Given the description of an element on the screen output the (x, y) to click on. 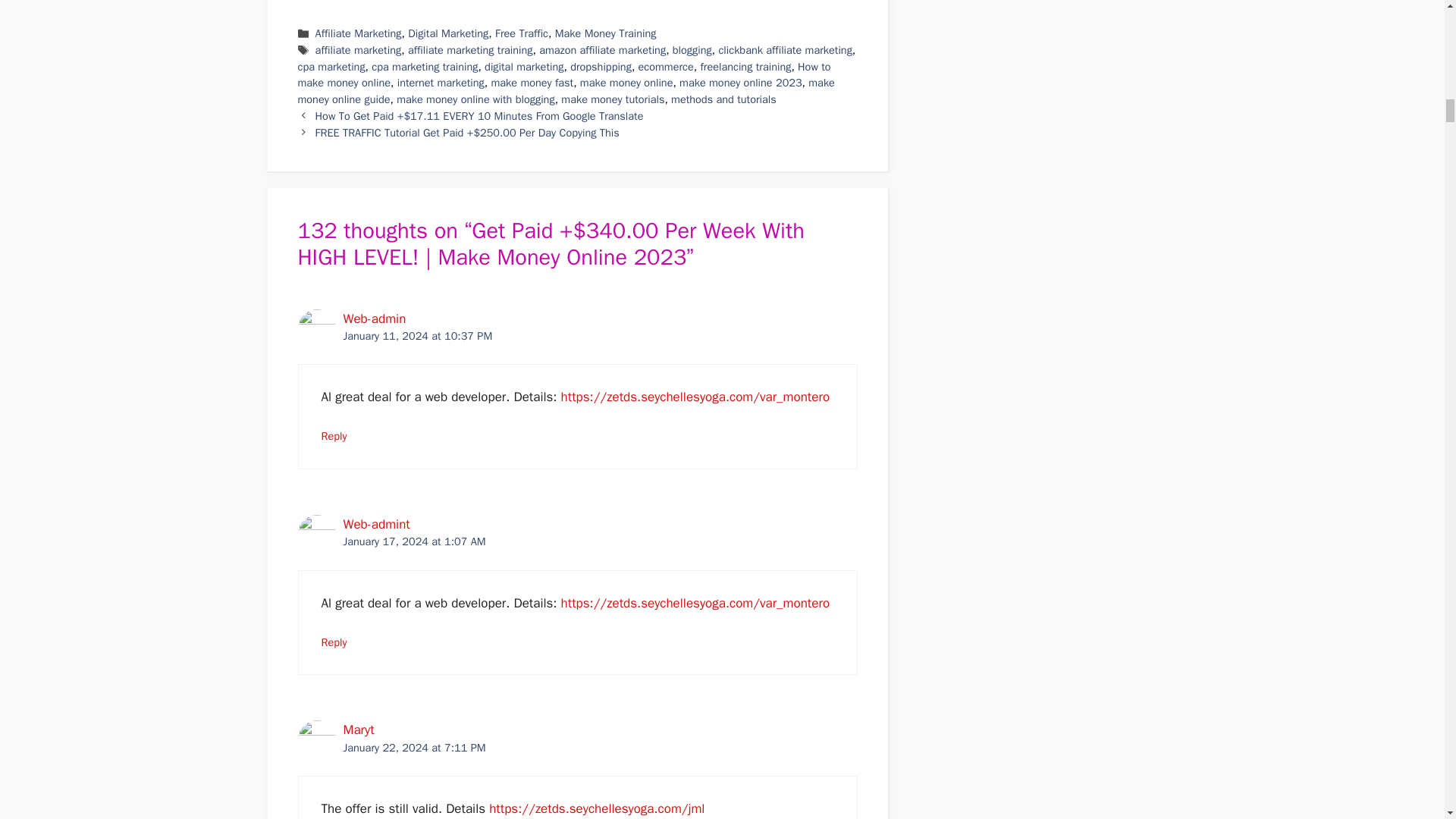
dropshipping (600, 66)
affiliate marketing training (469, 49)
affiliate marketing (358, 49)
How to make money online (563, 74)
make money online 2023 (740, 82)
Digital Marketing (447, 33)
Free Traffic (521, 33)
internet marketing (440, 82)
Make Money Training (605, 33)
ecommerce (666, 66)
freelancing training (745, 66)
digital marketing (523, 66)
blogging (691, 49)
make money fast (531, 82)
clickbank affiliate marketing (784, 49)
